Given the description of an element on the screen output the (x, y) to click on. 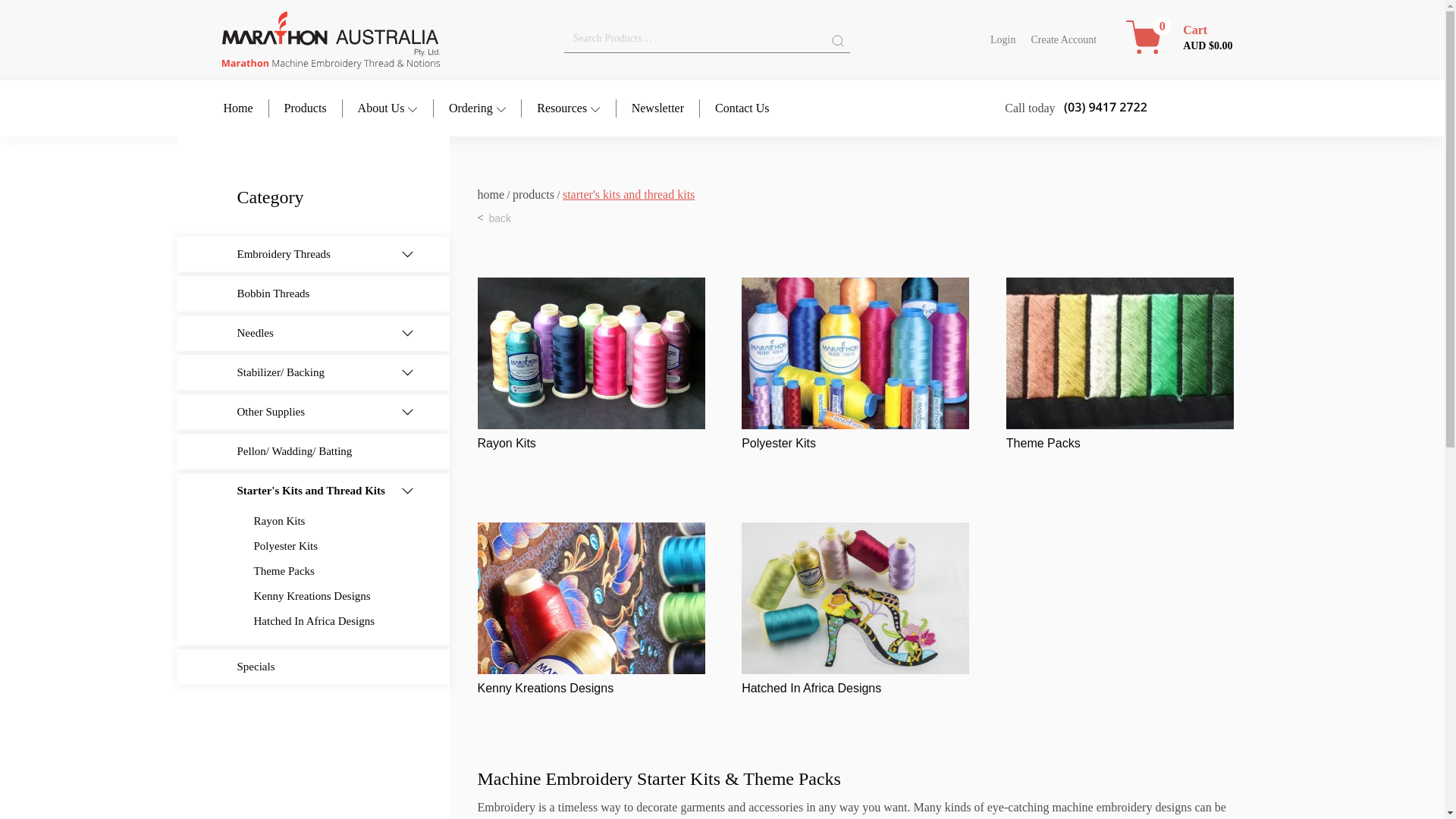
Login (1002, 39)
Products (312, 108)
Ordering (484, 108)
Resources (576, 108)
Newsletter (665, 108)
Home (244, 108)
Back (498, 217)
Contact Us (742, 108)
Bobbin Threads (328, 294)
Embroidery Threads (313, 253)
Needles (313, 333)
SEARCH (837, 40)
About Us (395, 108)
Create Account (1063, 39)
